Given the description of an element on the screen output the (x, y) to click on. 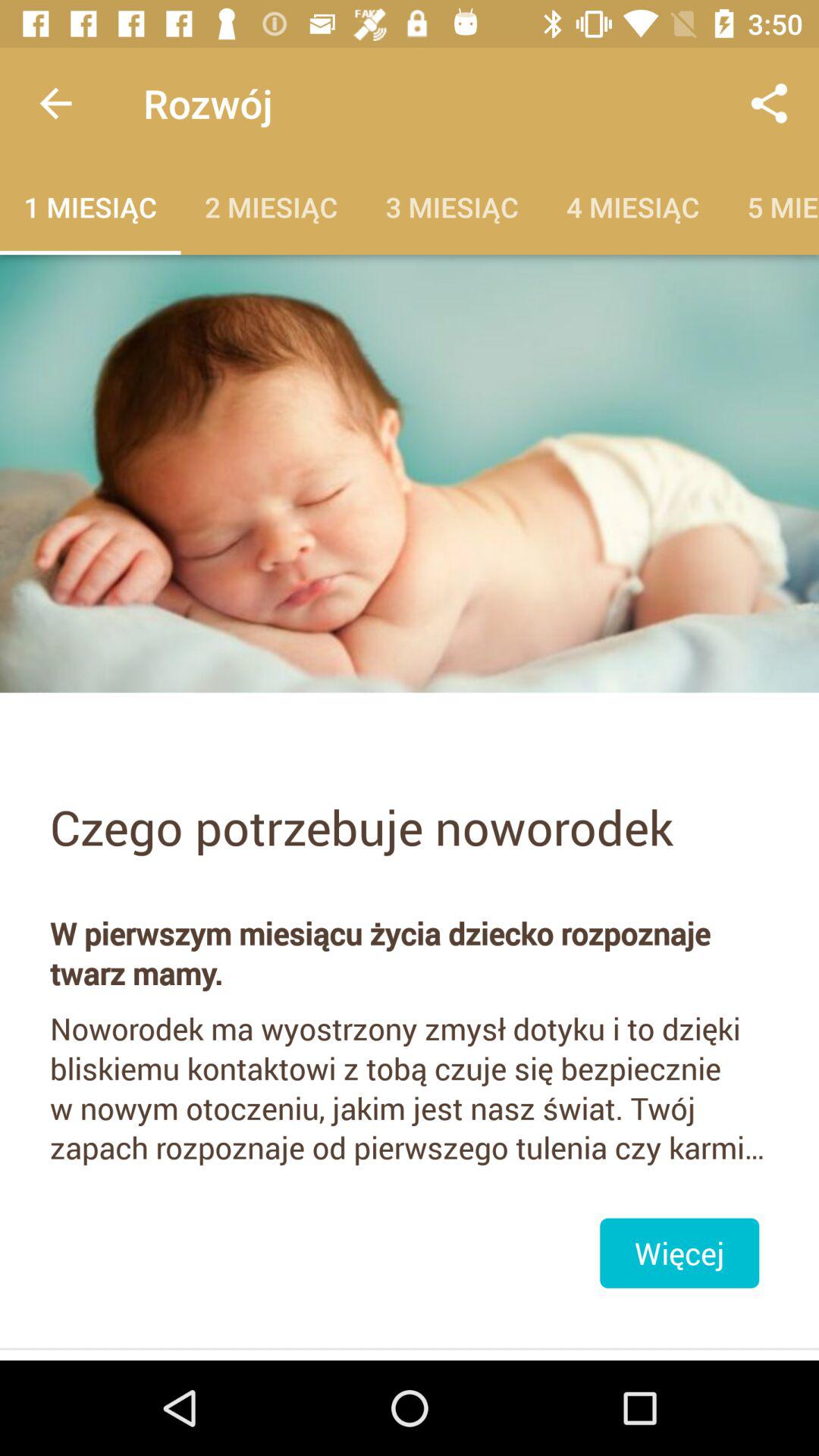
tap czego potrzebuje noworodek (409, 826)
